Given the description of an element on the screen output the (x, y) to click on. 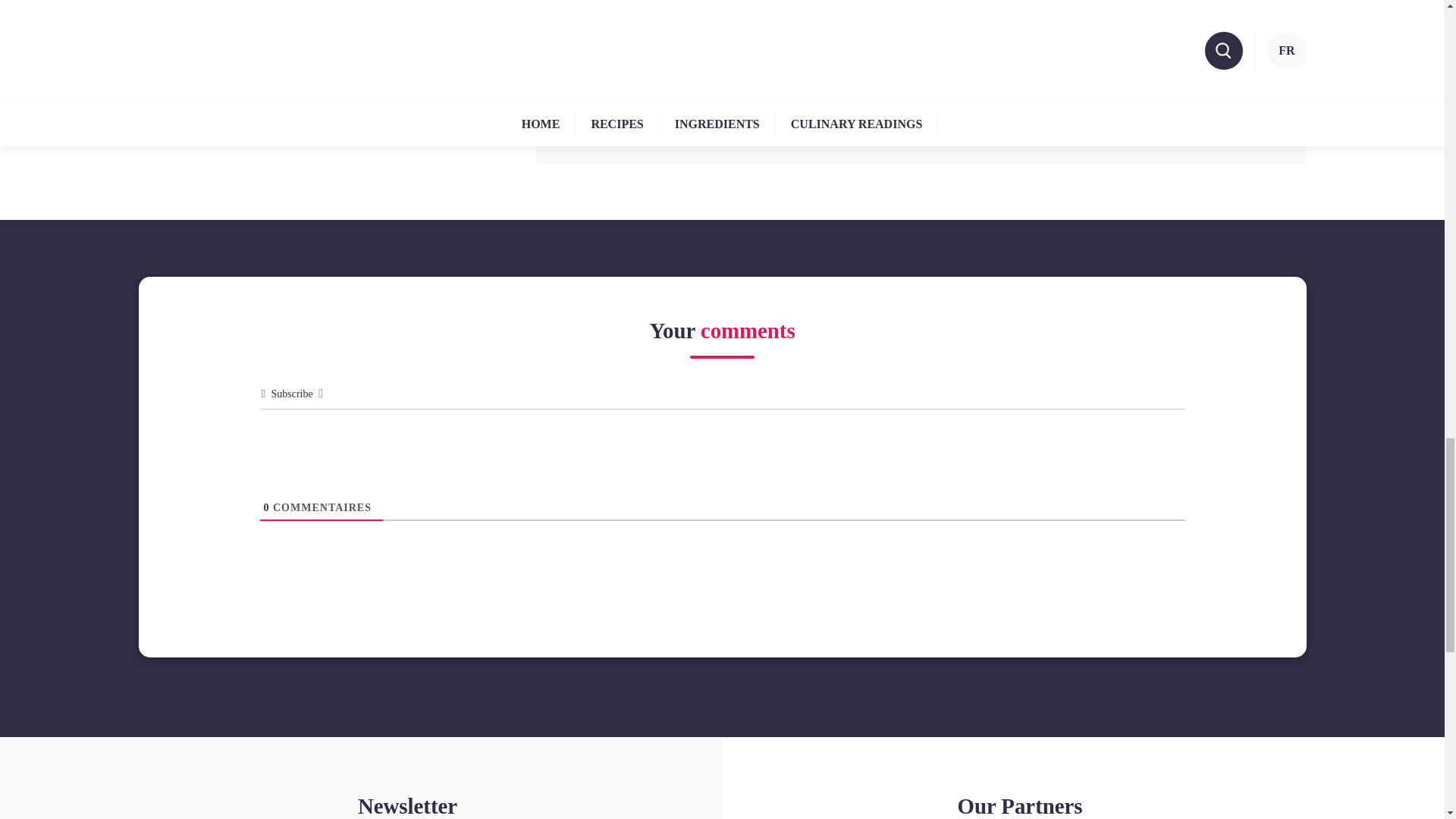
on (532, 49)
